Given the description of an element on the screen output the (x, y) to click on. 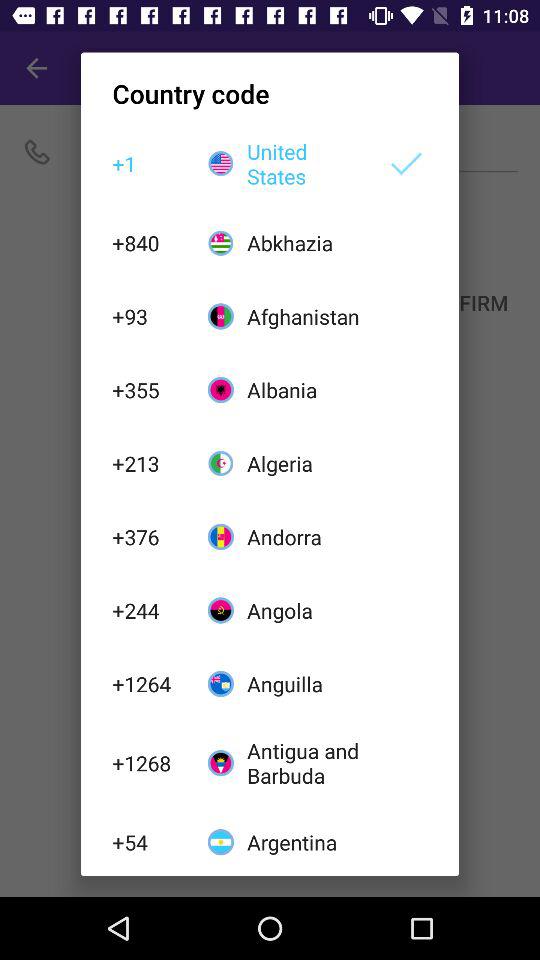
turn off albania (305, 389)
